Given the description of an element on the screen output the (x, y) to click on. 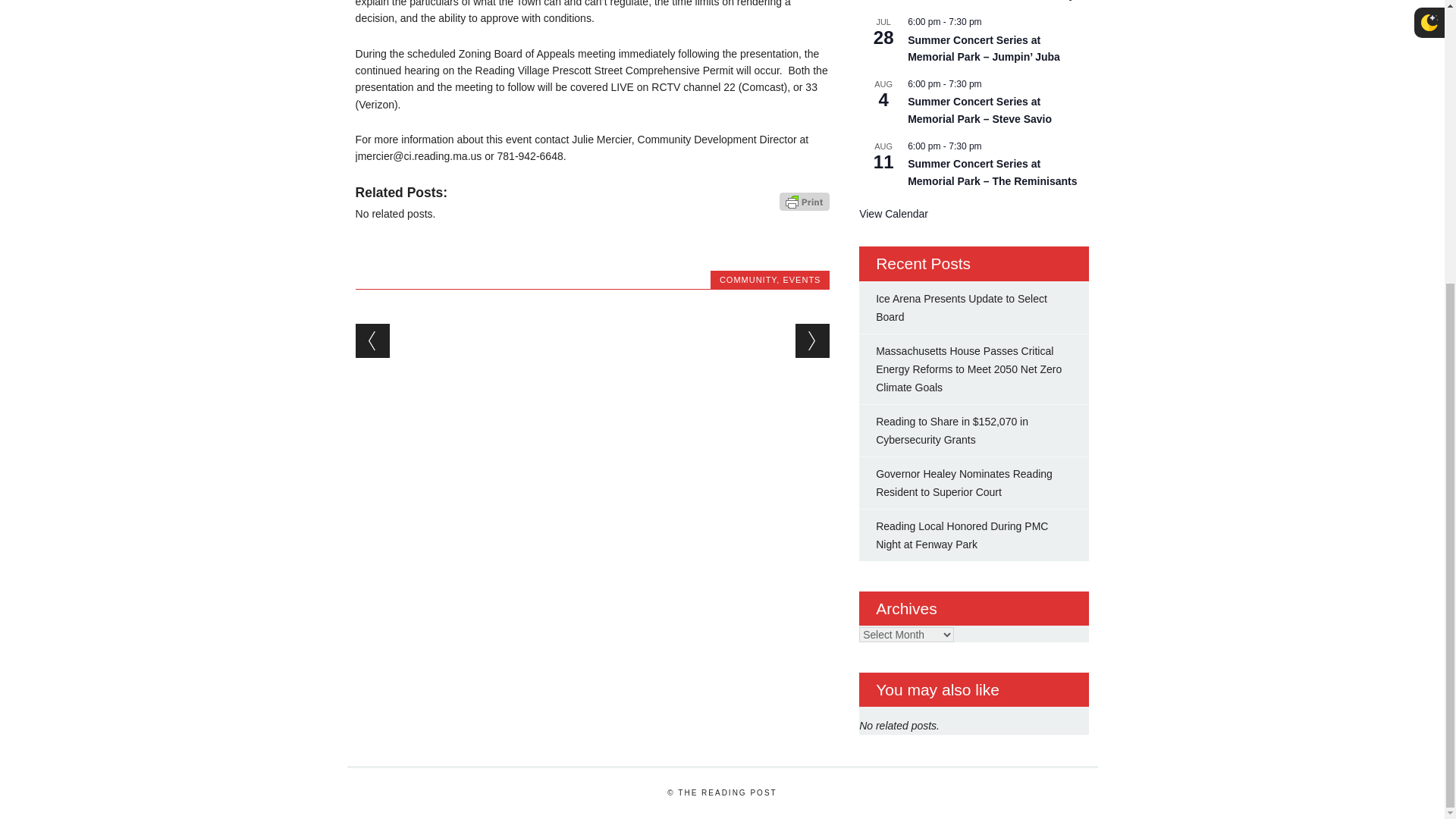
View more events. (893, 214)
